Given the description of an element on the screen output the (x, y) to click on. 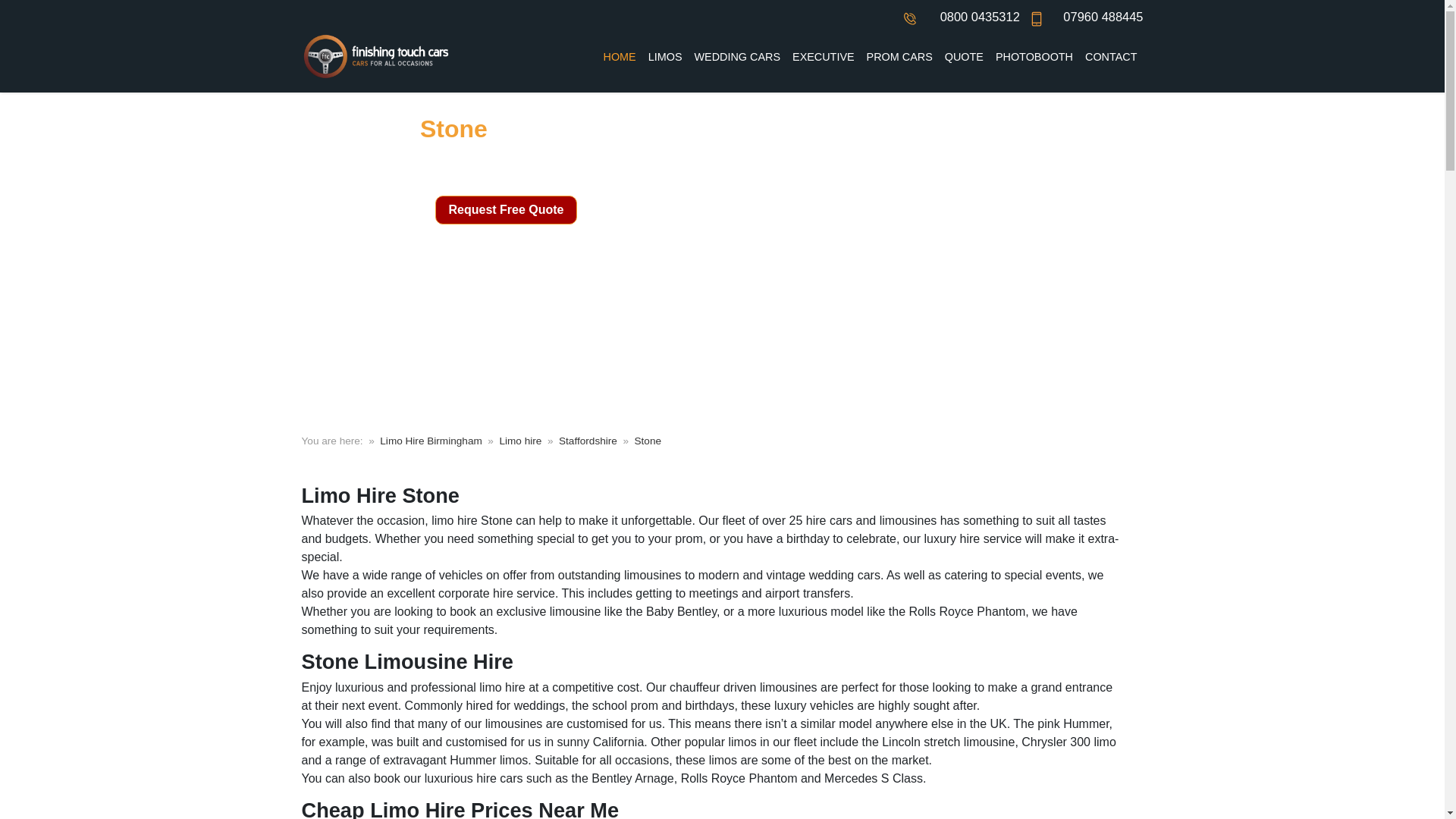
Limo Hire Birmingham (430, 441)
PHOTOBOOTH (1034, 57)
CONTACT (1110, 57)
Staffordshire (588, 441)
Request Free Quote (505, 209)
Limo hire (520, 441)
HOME (619, 57)
QUOTE (964, 57)
Stone (648, 441)
07960 488445 (1102, 16)
EXECUTIVE (823, 57)
WEDDING CARS (737, 57)
PROM CARS (899, 57)
0800 0435312 (980, 16)
LIMOS (665, 57)
